Given the description of an element on the screen output the (x, y) to click on. 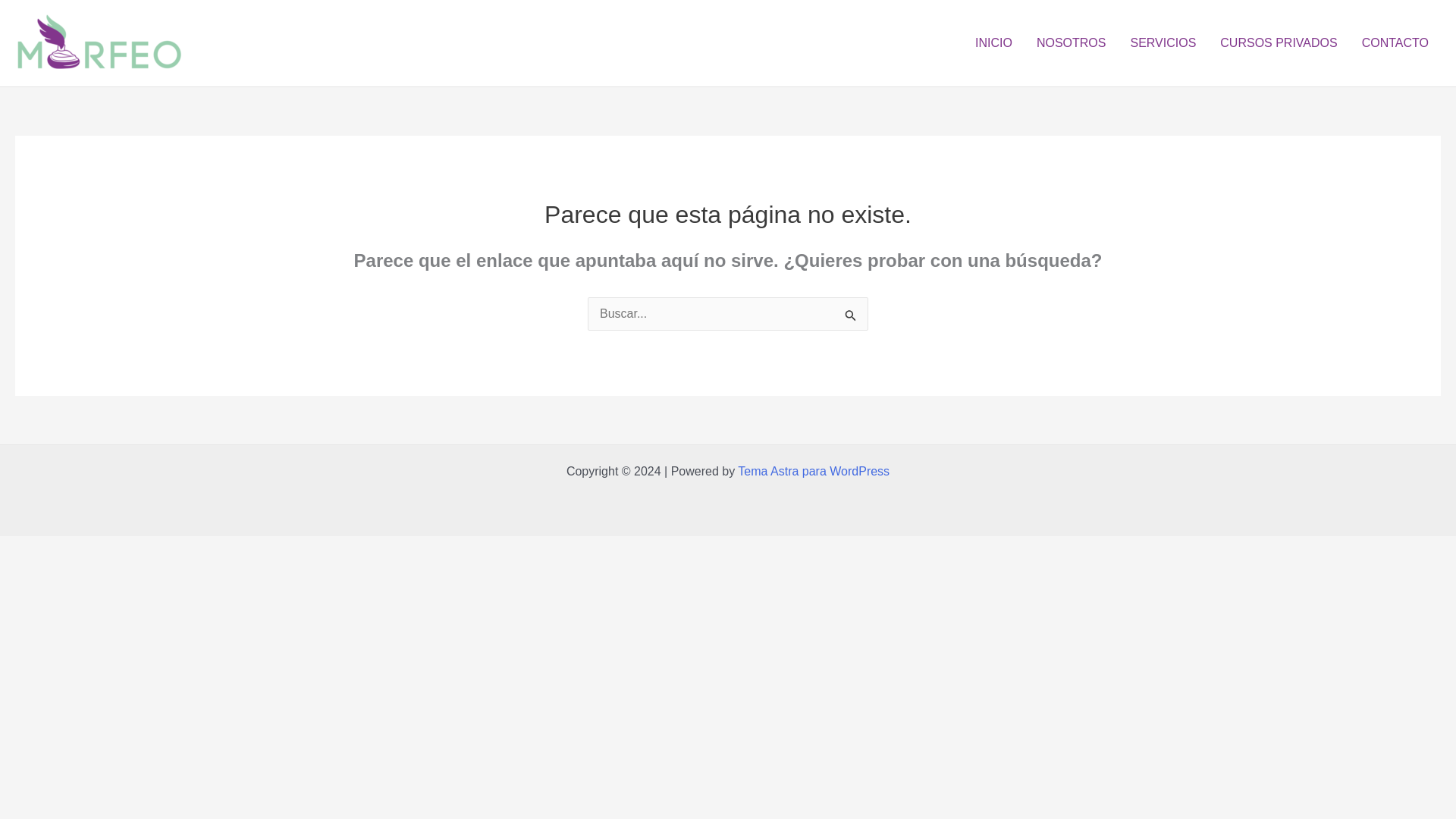
CURSOS PRIVADOS (1278, 43)
INICIO (993, 43)
Tema Astra para WordPress (813, 471)
SERVICIOS (1163, 43)
Buscar (850, 318)
NOSOTROS (1071, 43)
Buscar (850, 318)
Buscar (850, 318)
CONTACTO (1395, 43)
